Given the description of an element on the screen output the (x, y) to click on. 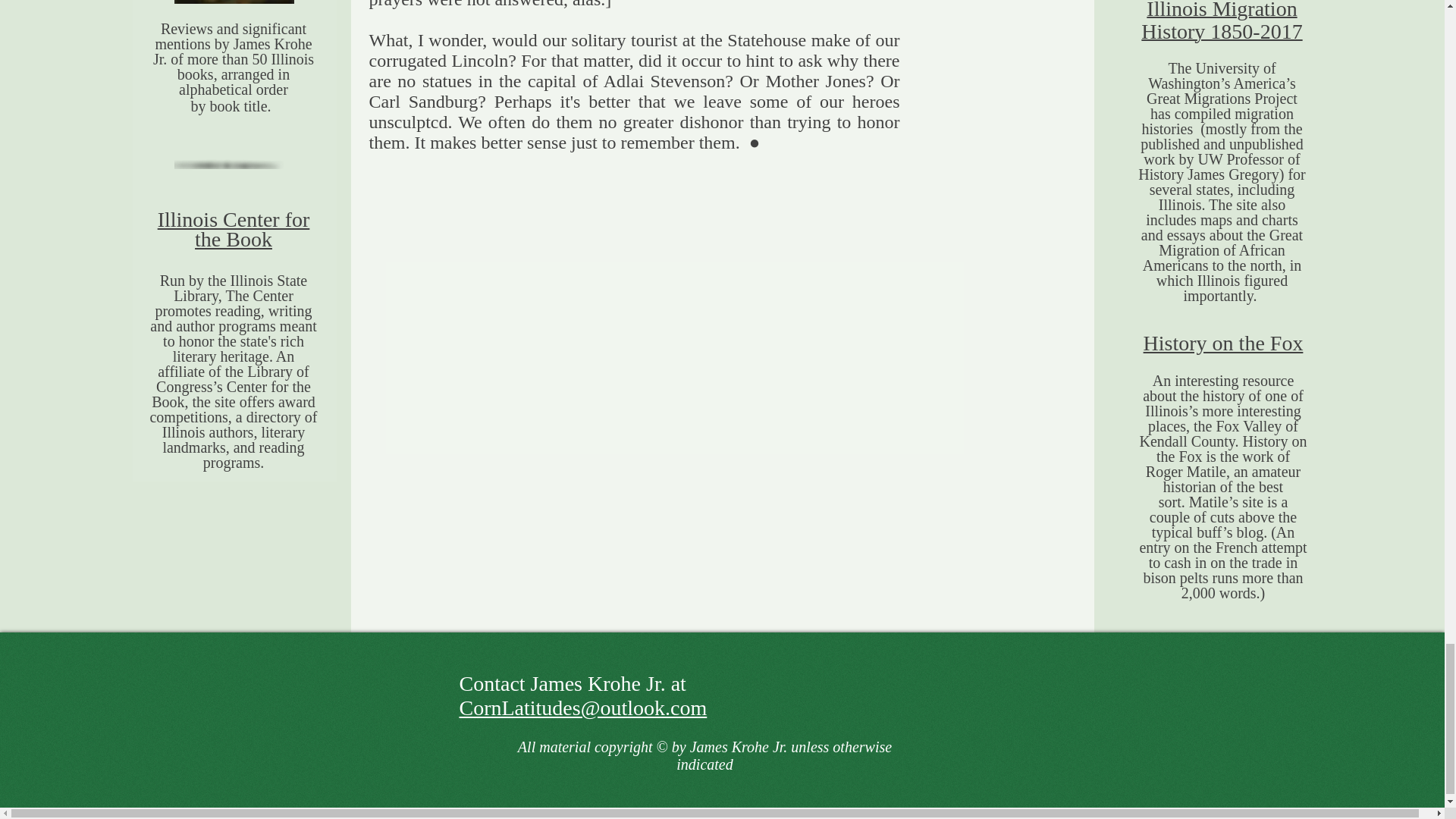
History on the Fox (1222, 342)
Illinois Center for the Book (233, 229)
Illinois Migration History 1850-2017 (1221, 21)
